Given the description of an element on the screen output the (x, y) to click on. 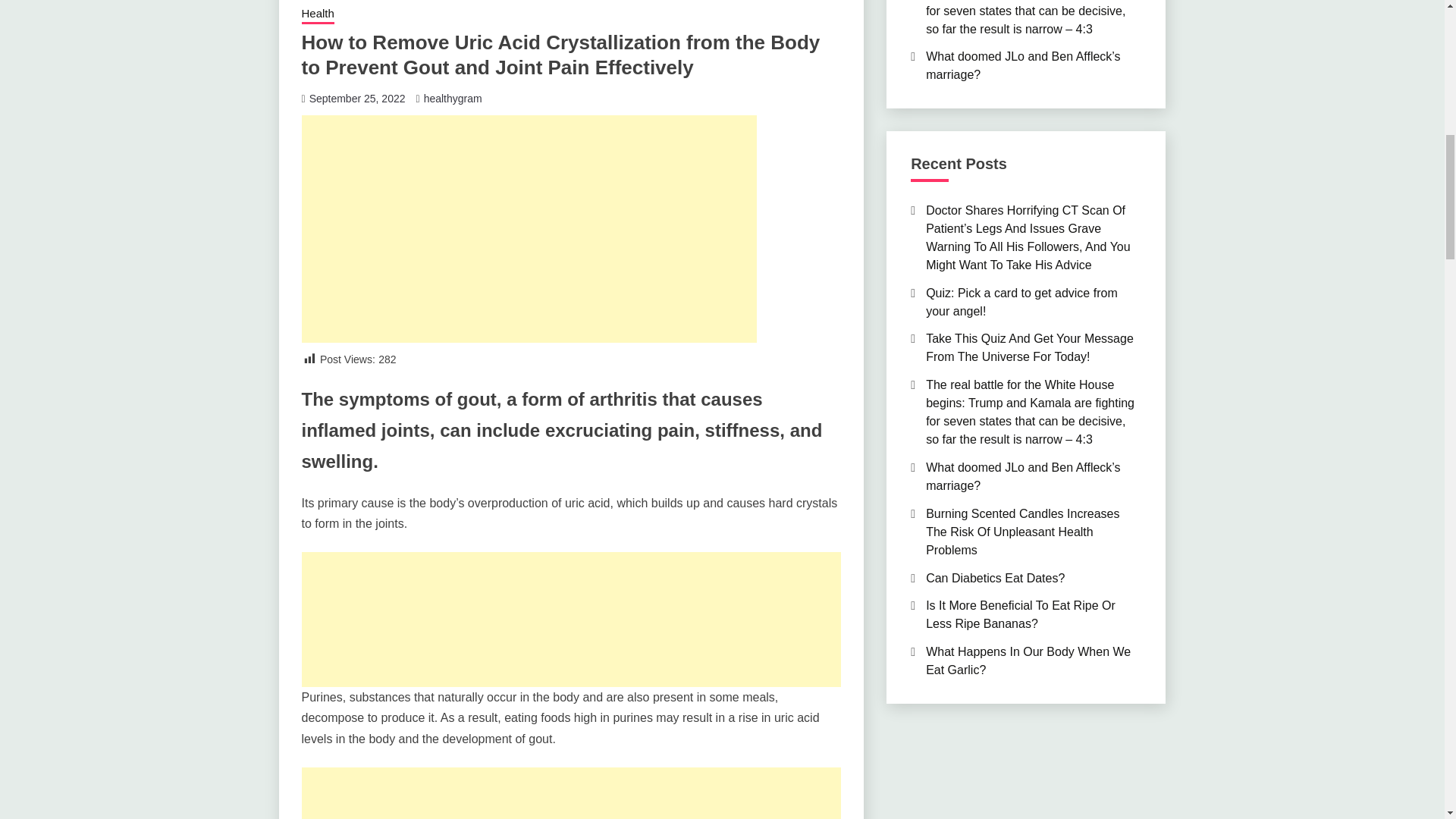
healthygram (452, 98)
September 25, 2022 (357, 98)
Health (317, 14)
